Given the description of an element on the screen output the (x, y) to click on. 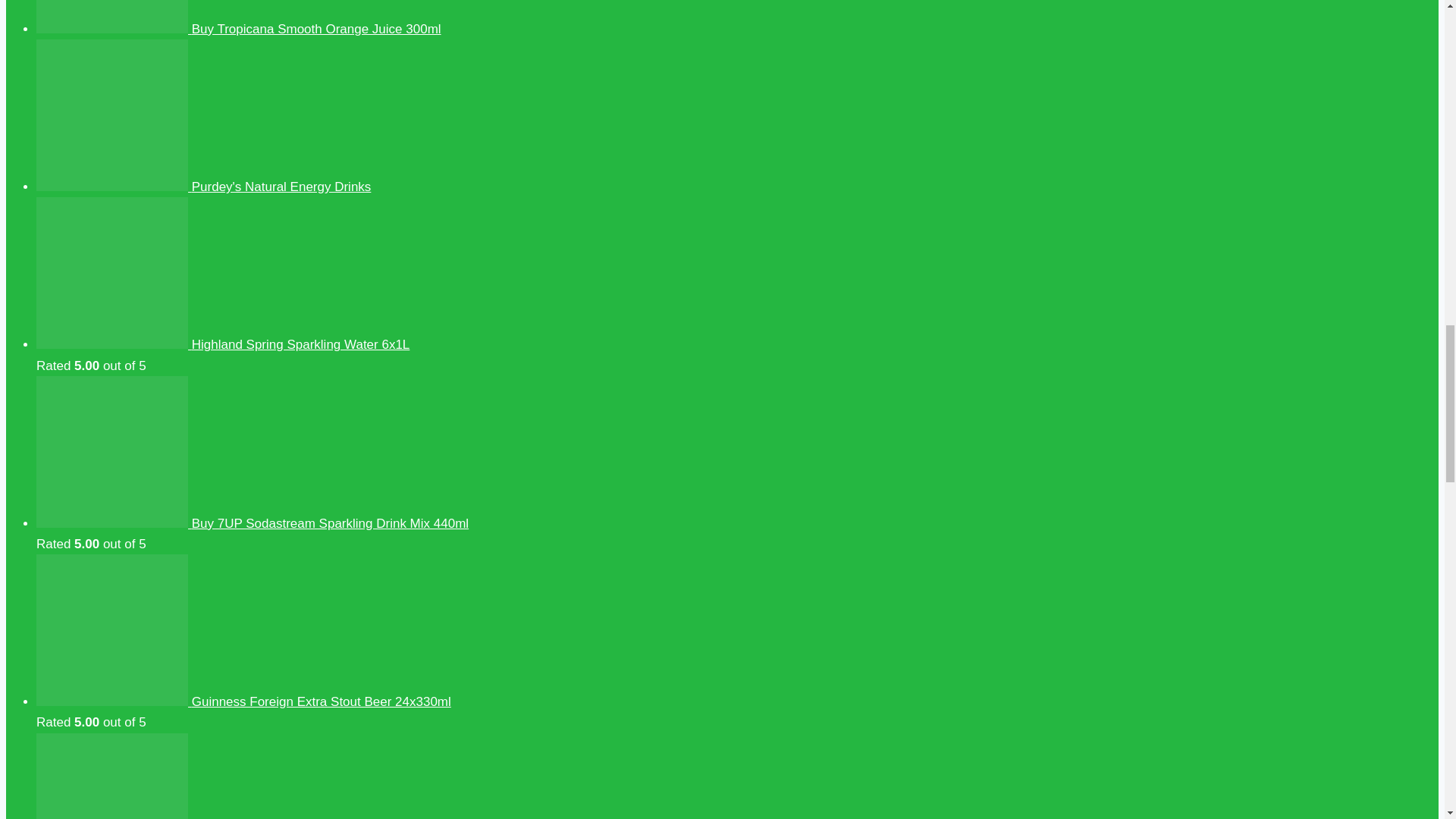
Purdey's Natural Energy Drinks (203, 186)
Highland Spring Sparkling Water 6x1L (222, 344)
Buy Tropicana Smooth Orange Juice 300ml (238, 29)
Buy 7UP Sodastream Sparkling Drink Mix 440ml (252, 523)
Guinness Foreign Extra Stout Beer 24x330ml (243, 701)
